Given the description of an element on the screen output the (x, y) to click on. 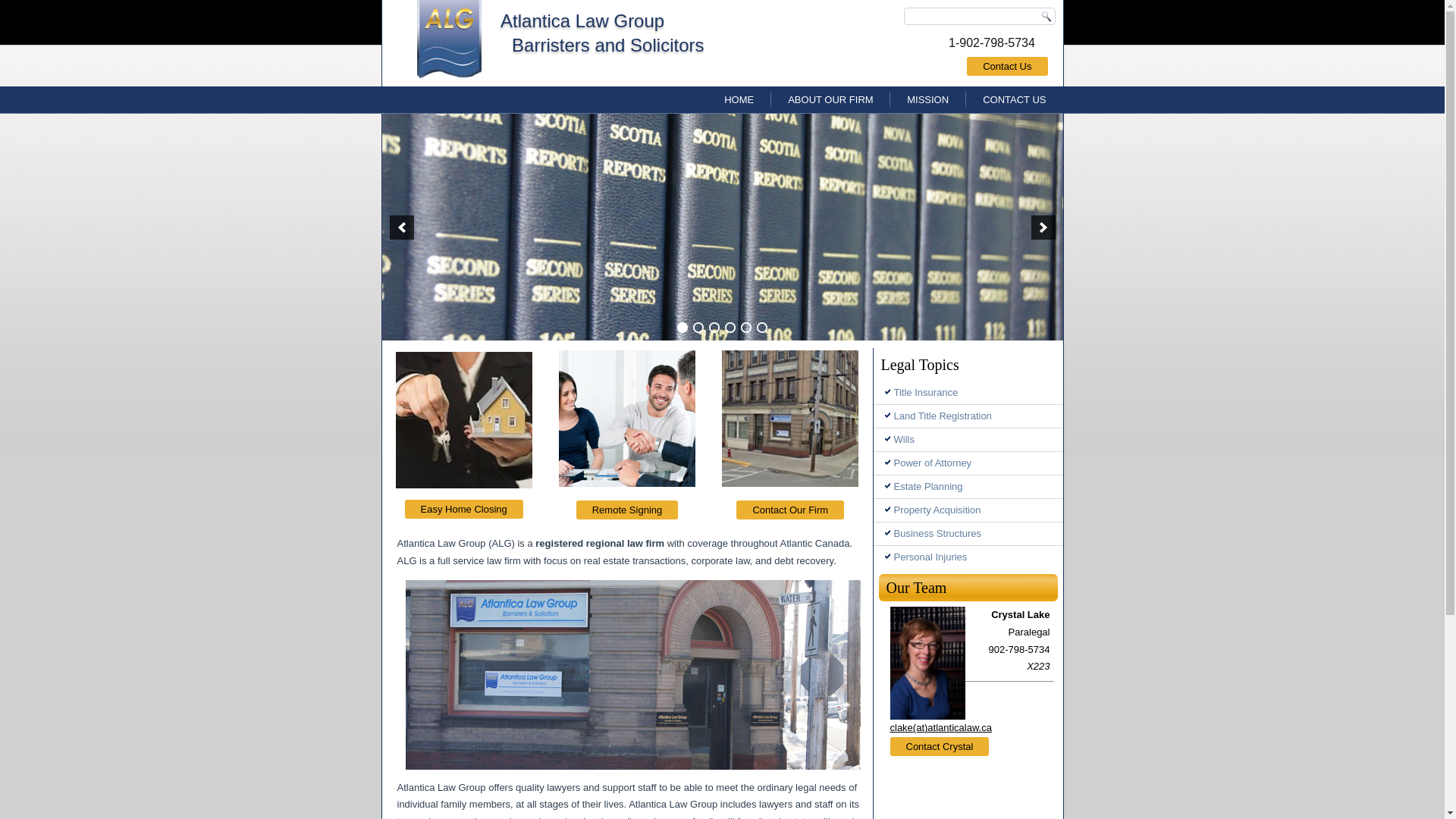
Easy Home Closing Element type: text (463, 507)
Wills Element type: text (968, 439)
Contact Crystal Element type: text (939, 746)
Estate Planning Element type: text (968, 486)
Contact Our Firm Element type: text (790, 509)
HOME Element type: text (738, 99)
clake(at)atlanticalaw.ca Element type: text (940, 727)
ABOUT OUR FIRM Element type: text (830, 99)
Remote Signing Element type: text (627, 509)
Atlantica Law Group Element type: text (582, 20)
CONTACT US Element type: text (1013, 99)
Property Acquisition Element type: text (968, 509)
Title Insurance Element type: text (968, 392)
MISSION Element type: text (927, 99)
Land Title Registration Element type: text (968, 415)
Power of Attorney Element type: text (968, 462)
Business Structures Element type: text (968, 533)
Personal Injuries Element type: text (968, 557)
Contact Us Element type: text (1006, 65)
